Given the description of an element on the screen output the (x, y) to click on. 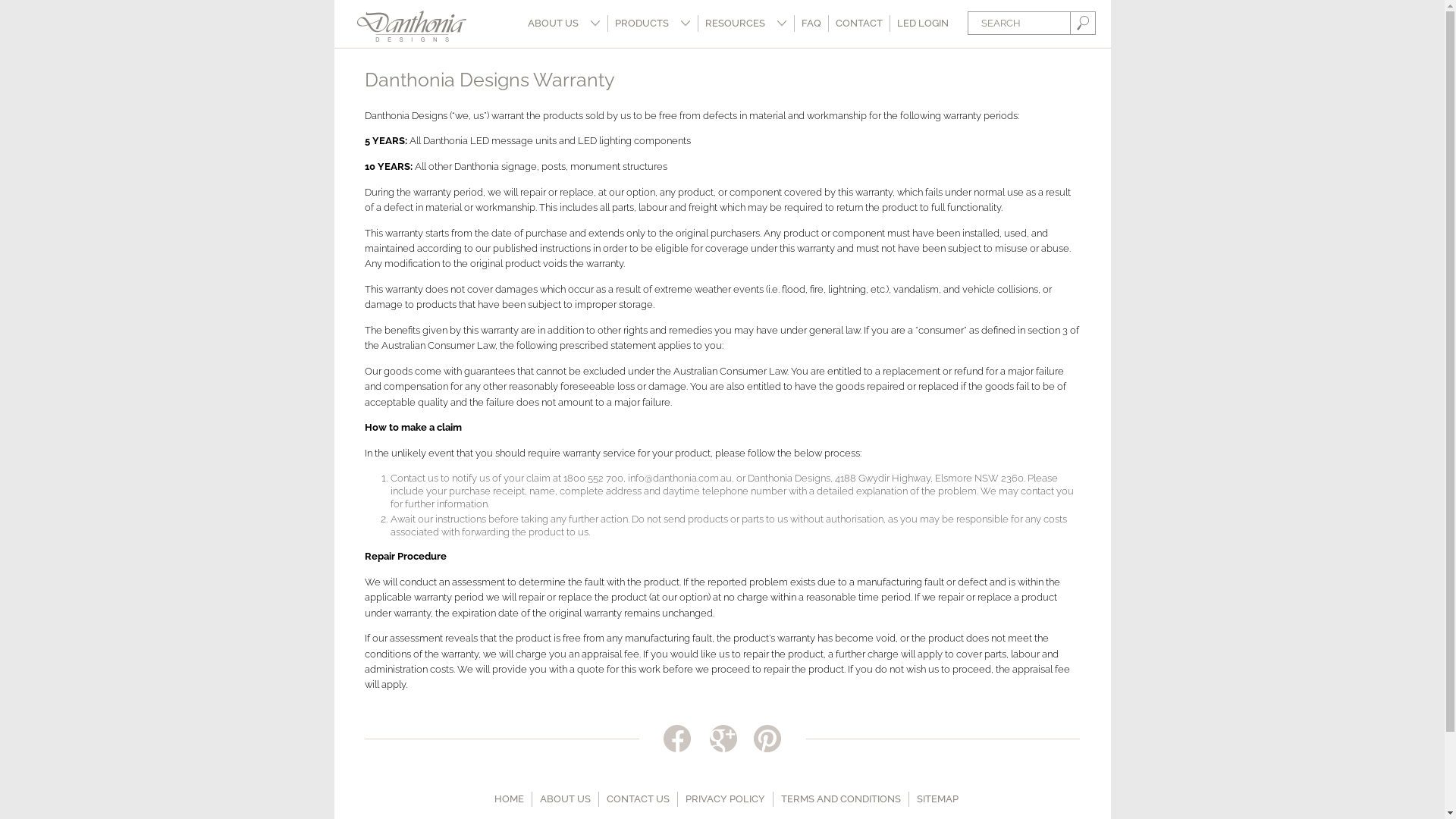
TERMS AND CONDITIONS Element type: text (840, 798)
SITEMAP Element type: text (936, 798)
ABOUT US Element type: text (563, 23)
SEARCH Element type: text (1081, 23)
Home Element type: hover (410, 25)
RESOURCES Element type: text (745, 23)
ABOUT US Element type: text (564, 798)
CONTACT US Element type: text (637, 798)
HOME Element type: text (509, 798)
CONTACT Element type: text (858, 23)
Facebook Element type: text (676, 739)
Google+ Element type: text (721, 739)
PRODUCTS Element type: text (652, 23)
LED LOGIN Element type: text (924, 23)
FAQ Element type: text (811, 23)
Pinterest Element type: text (767, 739)
PRIVACY POLICY Element type: text (725, 798)
